Given the description of an element on the screen output the (x, y) to click on. 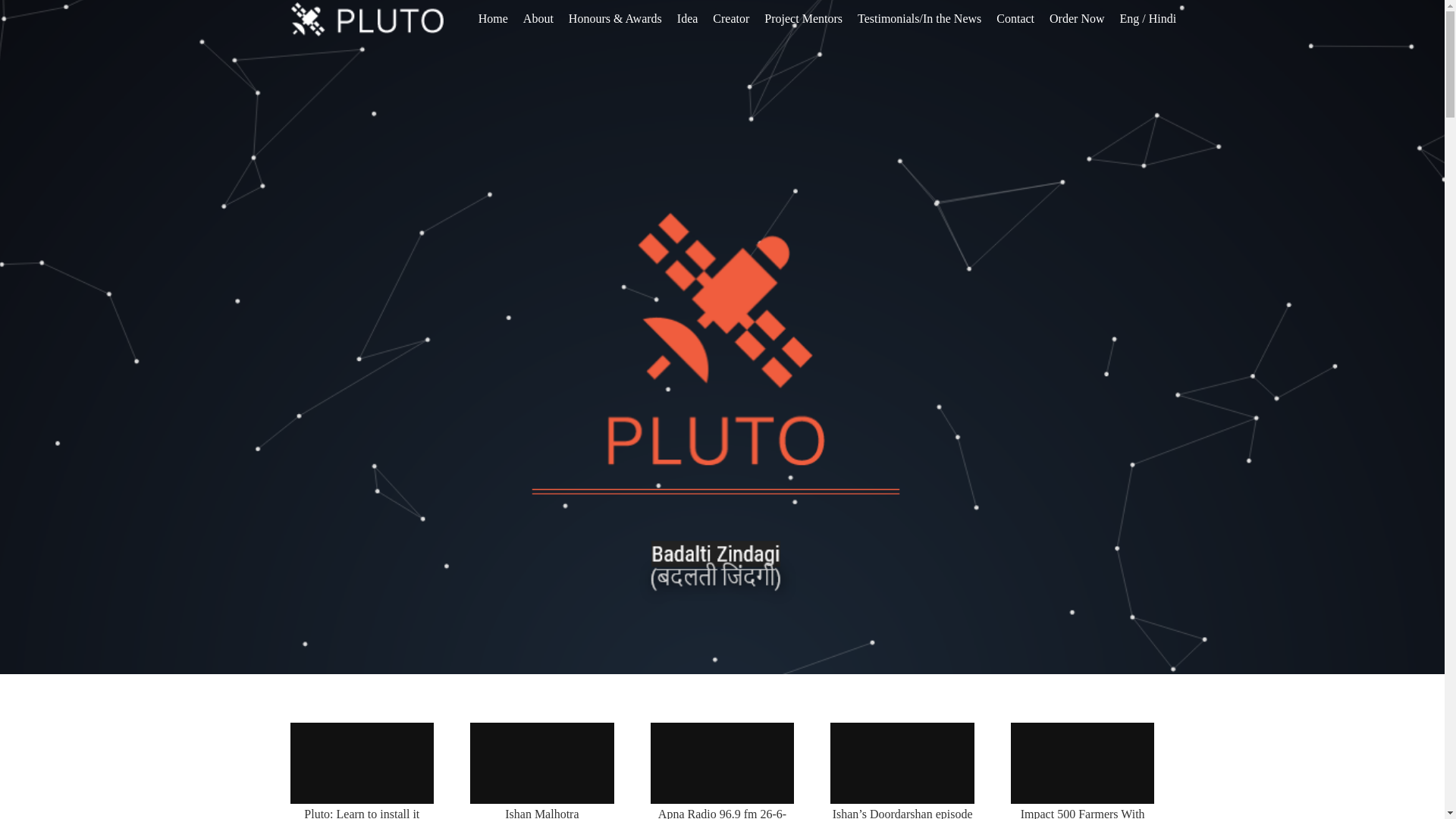
Creator (730, 18)
Idea (687, 18)
Project Mentors (803, 18)
About (537, 18)
Contact (1015, 18)
Home (492, 18)
Order Now (1077, 18)
